Given the description of an element on the screen output the (x, y) to click on. 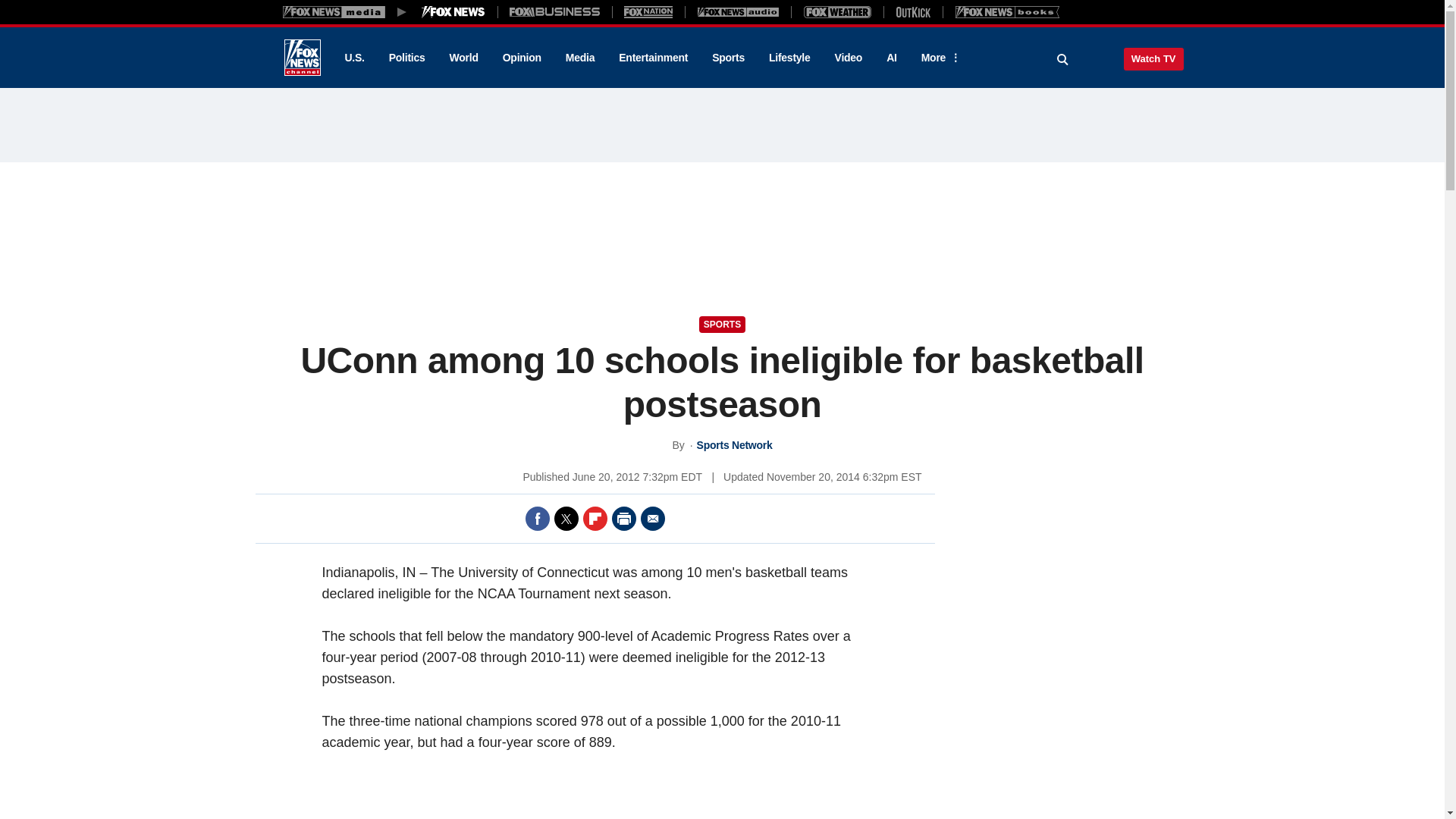
Fox News (301, 57)
AI (891, 57)
Fox Weather (836, 11)
Fox News Media (453, 11)
Entertainment (653, 57)
U.S. (353, 57)
Lifestyle (789, 57)
Watch TV (1153, 58)
Fox Business (554, 11)
Books (1007, 11)
World (464, 57)
Media (580, 57)
Video (848, 57)
More (938, 57)
Sports (728, 57)
